Given the description of an element on the screen output the (x, y) to click on. 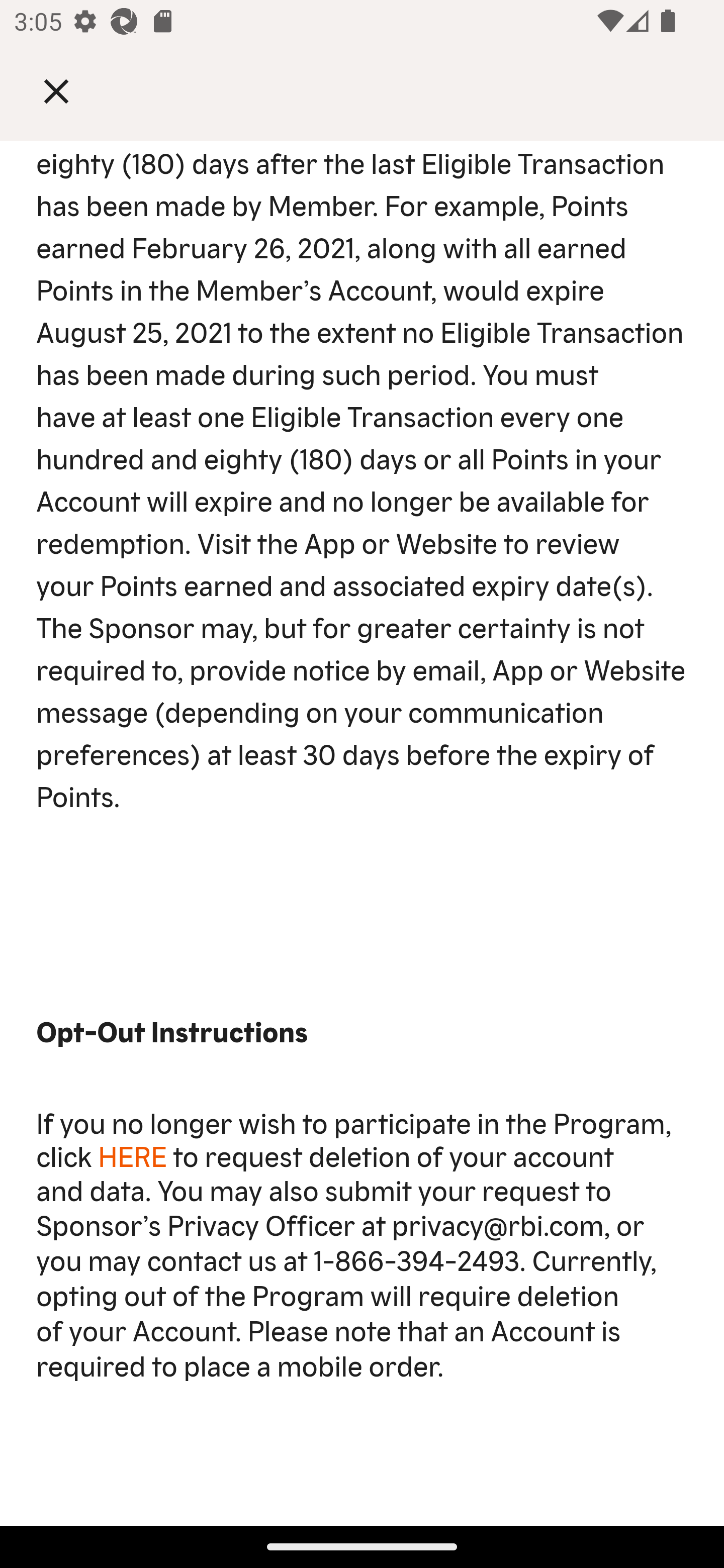
 (70, 90)
